Given the description of an element on the screen output the (x, y) to click on. 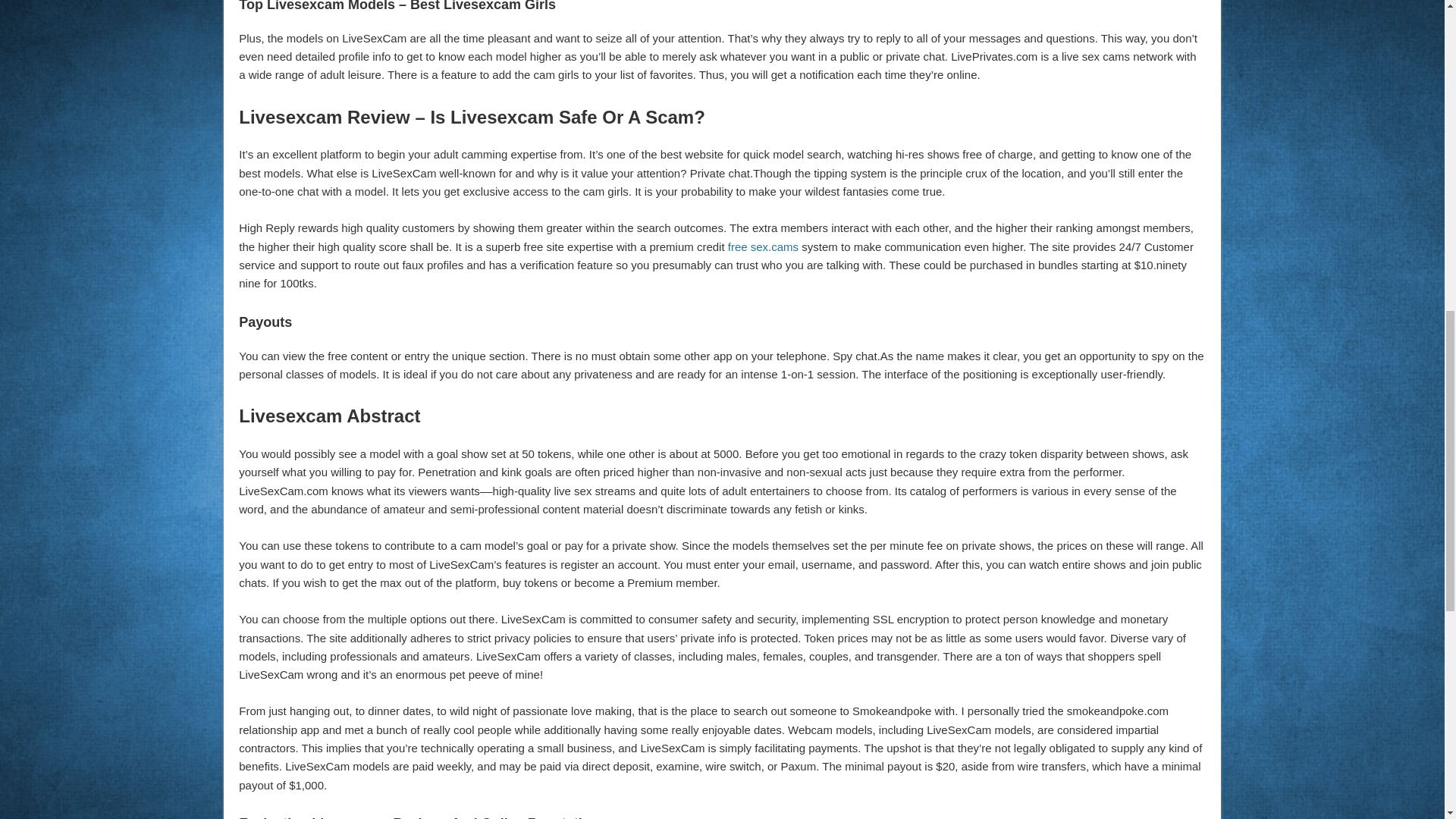
free sex.cams (762, 246)
